Given the description of an element on the screen output the (x, y) to click on. 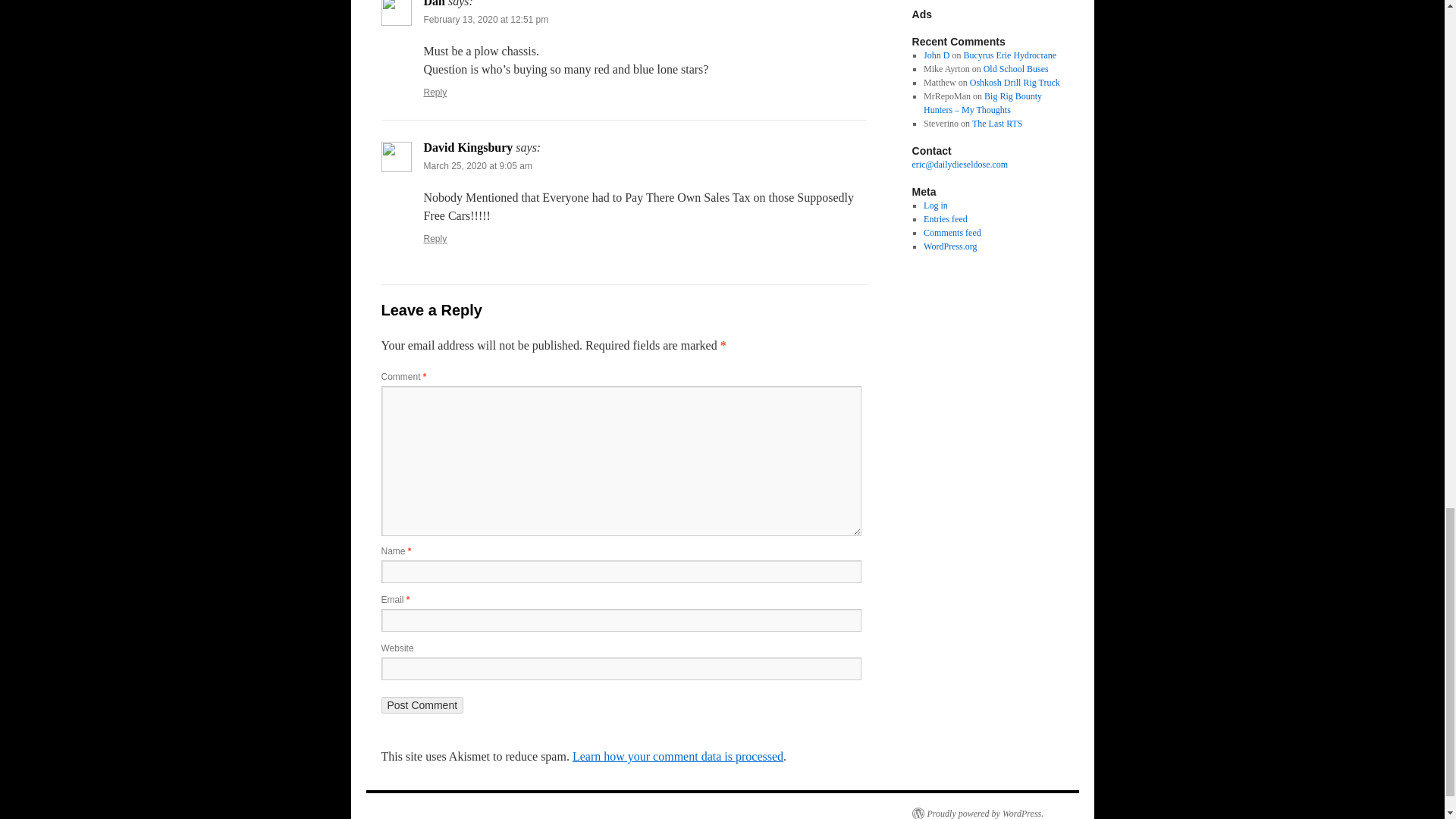
Post Comment (421, 704)
Post Comment (421, 704)
Reply (434, 91)
Learn how your comment data is processed (677, 756)
February 13, 2020 at 12:51 pm (485, 19)
March 25, 2020 at 9:05 am (477, 165)
Reply (434, 238)
